Given the description of an element on the screen output the (x, y) to click on. 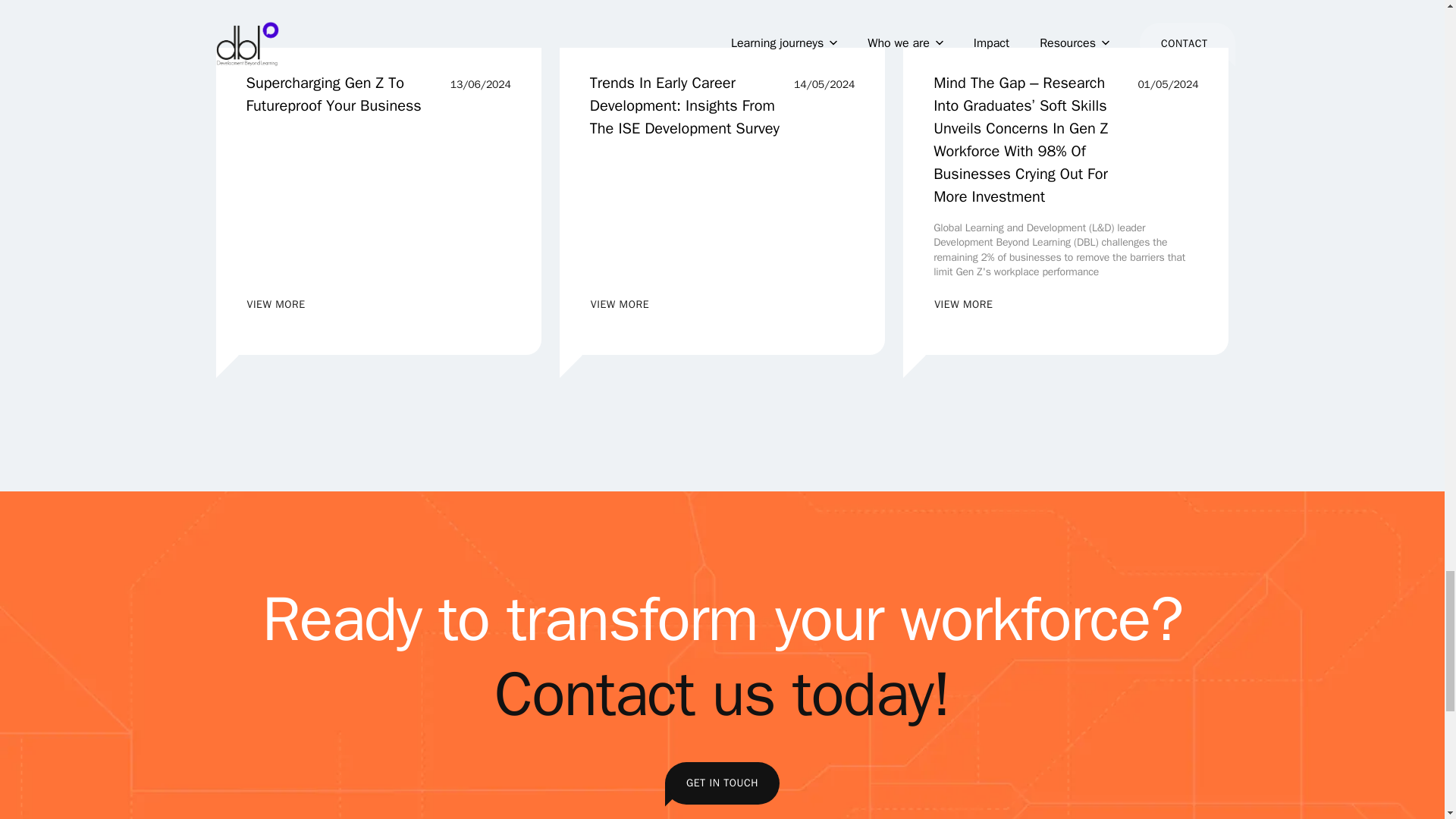
VIEW MORE (275, 304)
GET IN TOUCH (721, 783)
Supercharging Gen Z To Futureproof Your Business (377, 23)
VIEW MORE (343, 94)
VIEW MORE (962, 304)
Press release (619, 304)
